Given the description of an element on the screen output the (x, y) to click on. 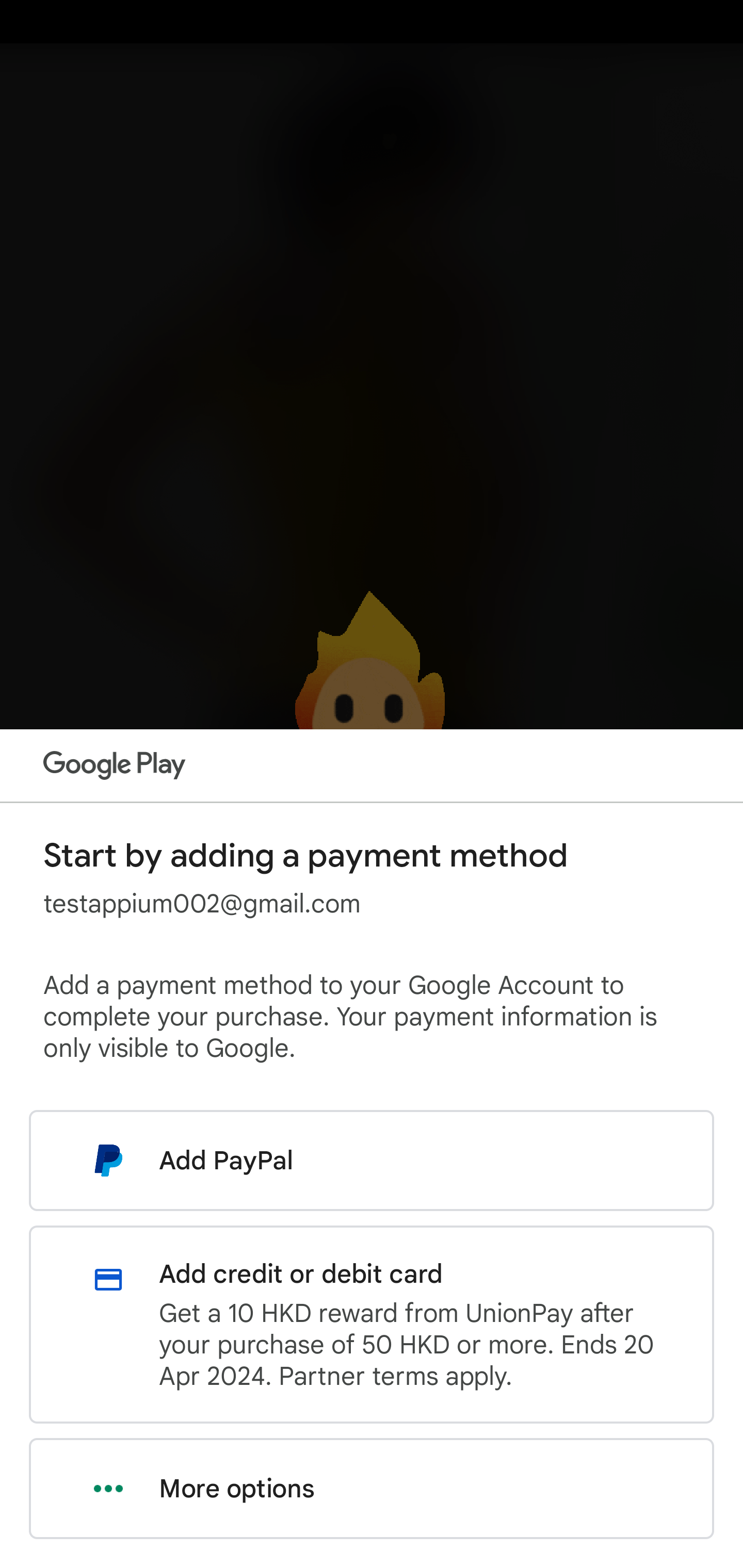
Add PayPal (371, 1160)
More options (371, 1488)
